Given the description of an element on the screen output the (x, y) to click on. 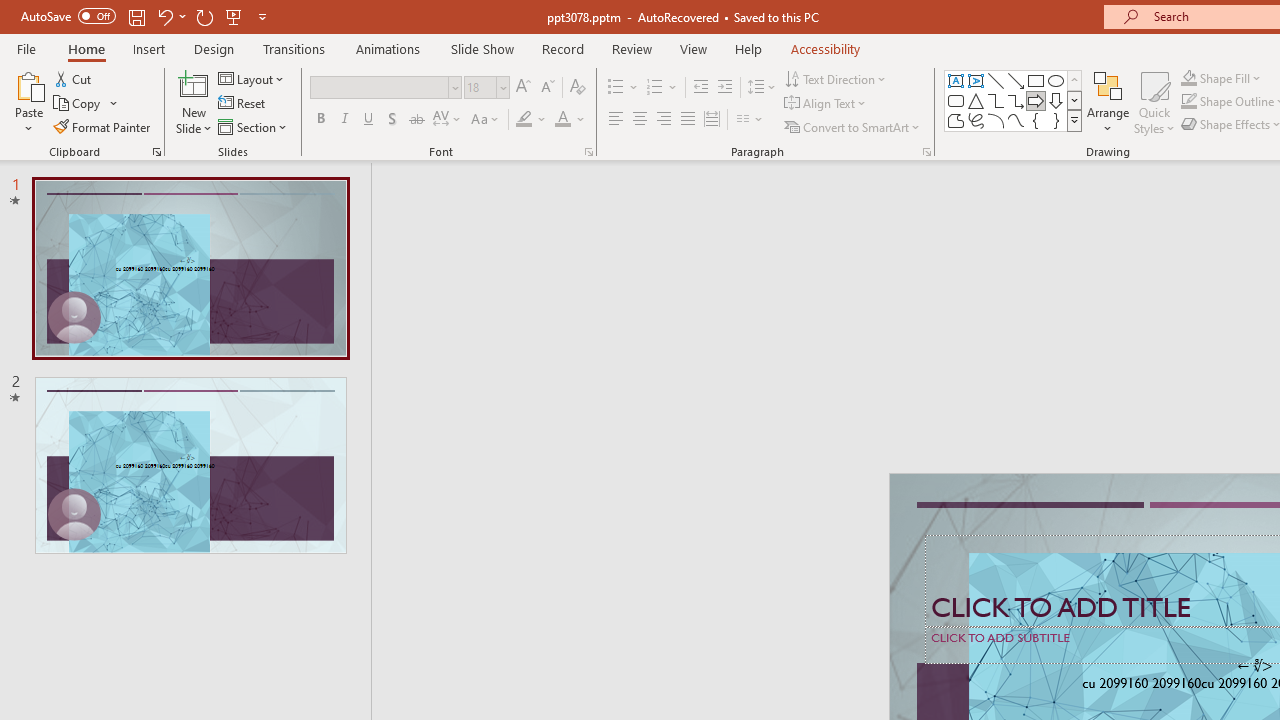
Vertical Text Box (975, 80)
Text Direction (836, 78)
Oval (1055, 80)
Line Spacing (762, 87)
Align Right (663, 119)
Italic (344, 119)
Increase Font Size (522, 87)
